Given the description of an element on the screen output the (x, y) to click on. 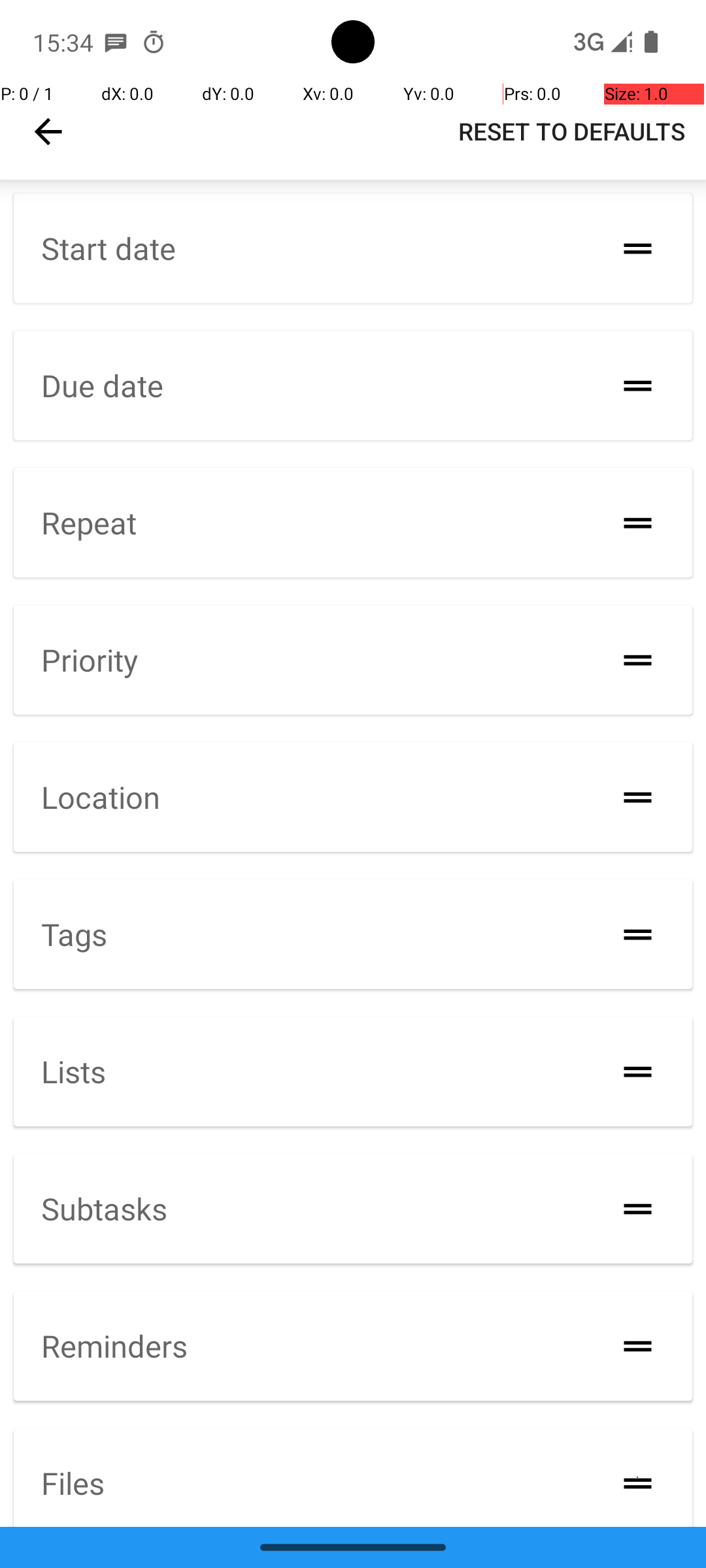
RESET TO DEFAULTS Element type: android.widget.Button (571, 131)
Start date Element type: android.widget.TextView (108, 247)
Lists Element type: android.widget.TextView (73, 1070)
Reminders Element type: android.widget.TextView (114, 1345)
